Given the description of an element on the screen output the (x, y) to click on. 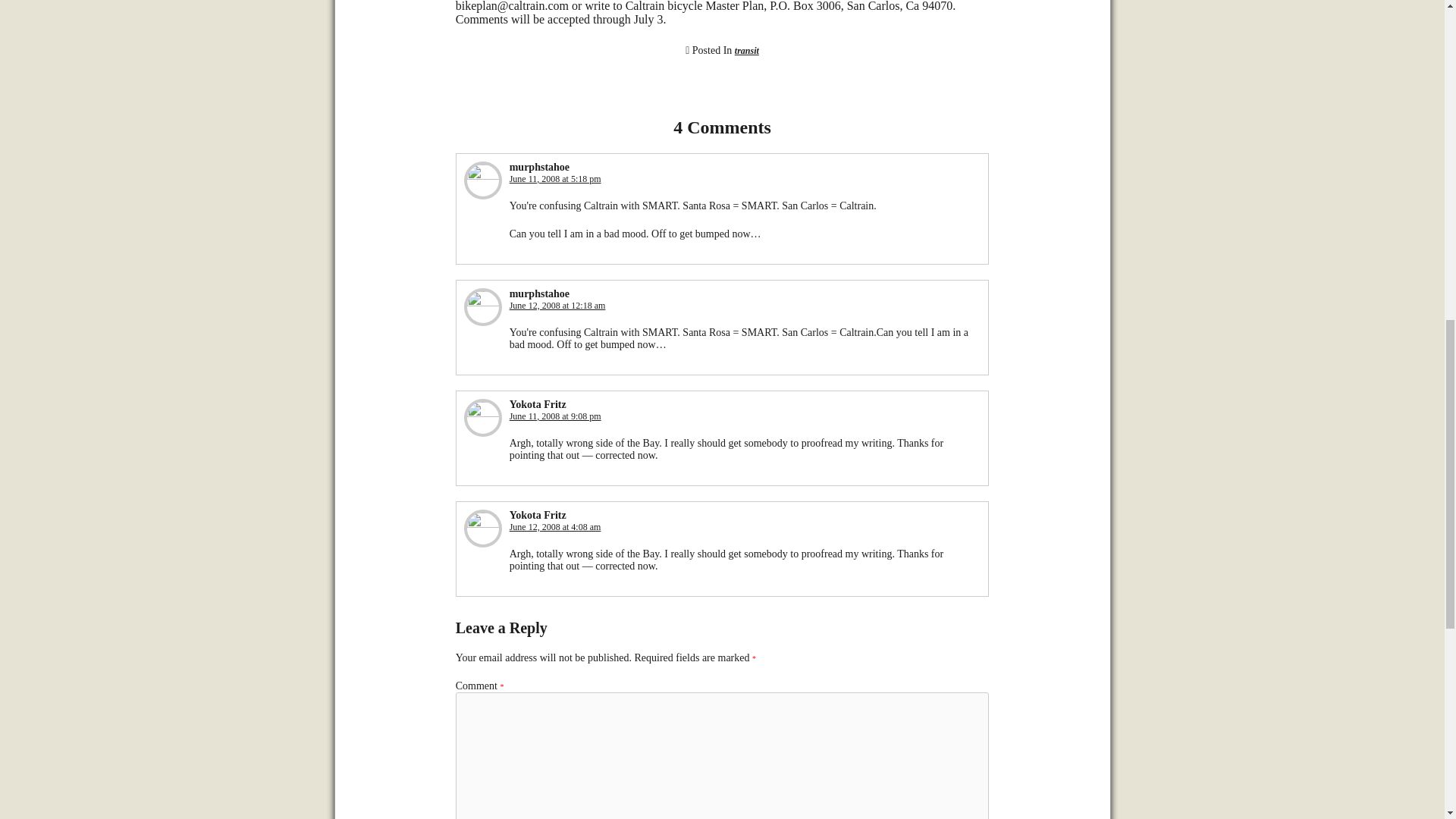
June 11, 2008 at 5:18 pm (555, 178)
June 11, 2008 at 9:08 pm (555, 416)
transit (746, 50)
June 12, 2008 at 4:08 am (555, 526)
June 12, 2008 at 12:18 am (557, 305)
